Given the description of an element on the screen output the (x, y) to click on. 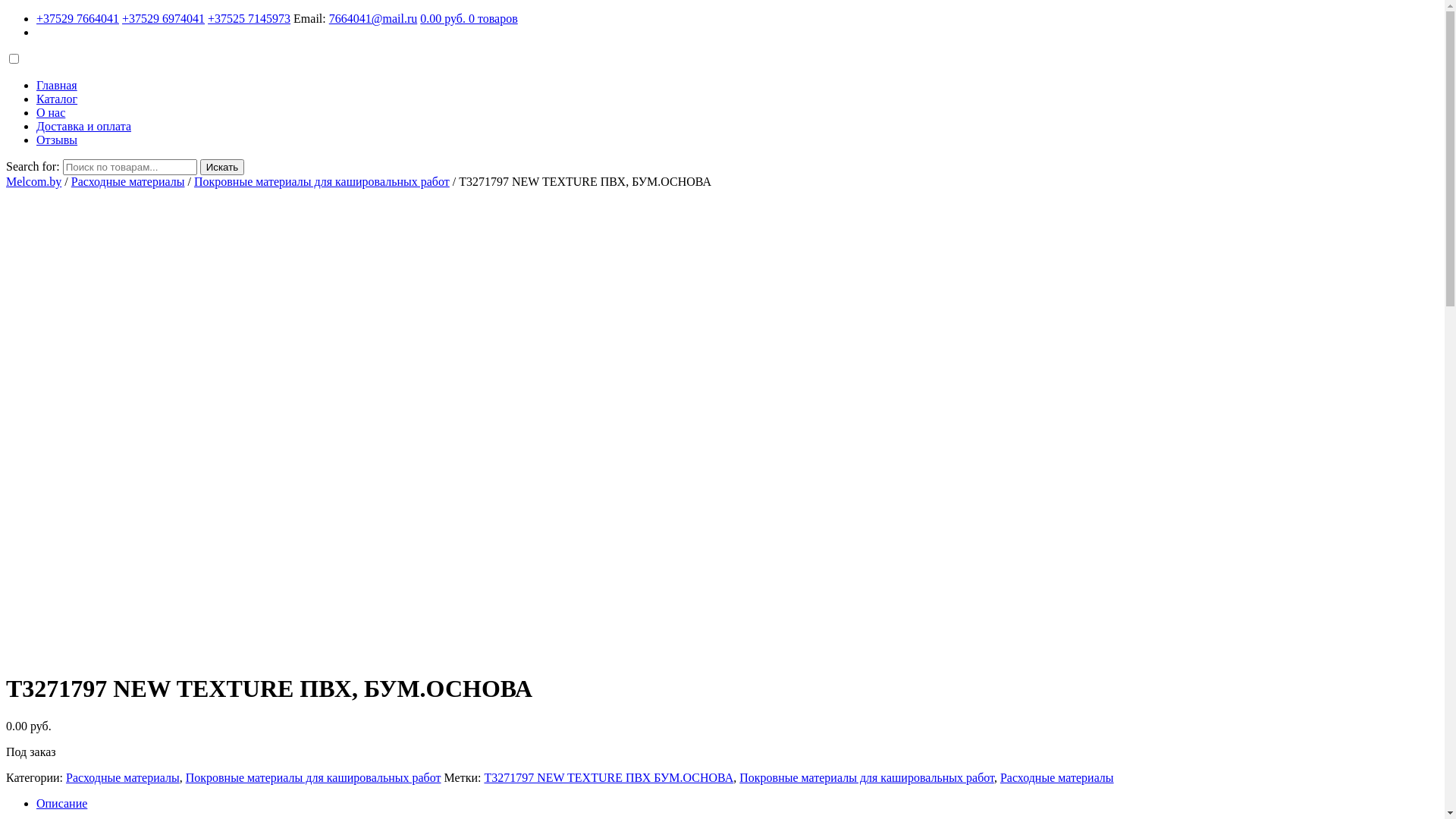
7664041@mail.ru Element type: text (373, 18)
Melcom.by Element type: text (33, 181)
+37529 6974041 Element type: text (163, 18)
+37525 7145973 Element type: text (248, 18)
+37529 7664041 Element type: text (77, 18)
